Given the description of an element on the screen output the (x, y) to click on. 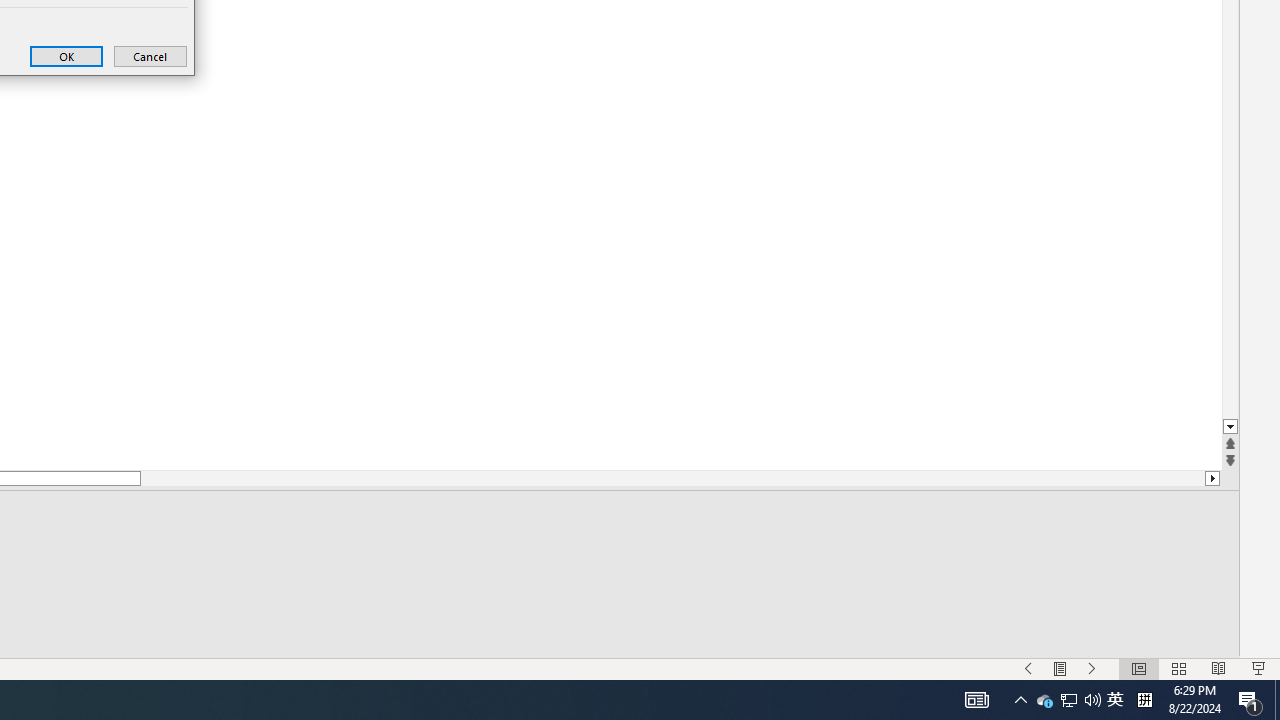
Menu On (1060, 668)
Slide Show Next On (1092, 668)
Slide Show Previous On (1028, 668)
